Given the description of an element on the screen output the (x, y) to click on. 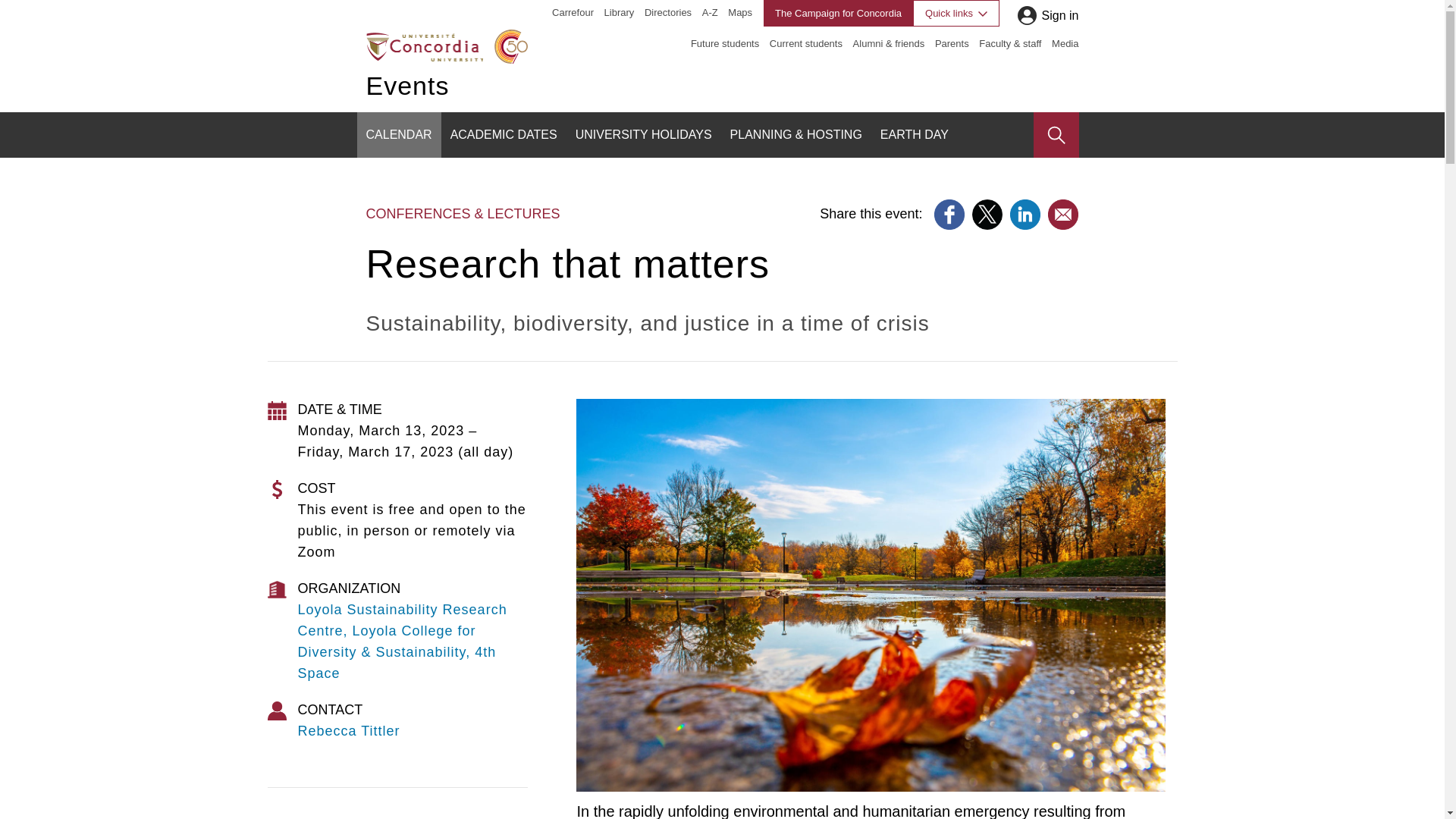
Email this story (1063, 214)
Maps (740, 12)
Quick links (955, 13)
Share on LinkedIn (1025, 214)
Parents (951, 43)
Carrefour (572, 12)
Current students (806, 43)
Future students (724, 43)
Library (619, 12)
Share on Facebook (948, 214)
Media (1064, 43)
Sign in (1059, 15)
Directories (668, 12)
A-Z (709, 12)
The Campaign for Concordia (837, 13)
